Given the description of an element on the screen output the (x, y) to click on. 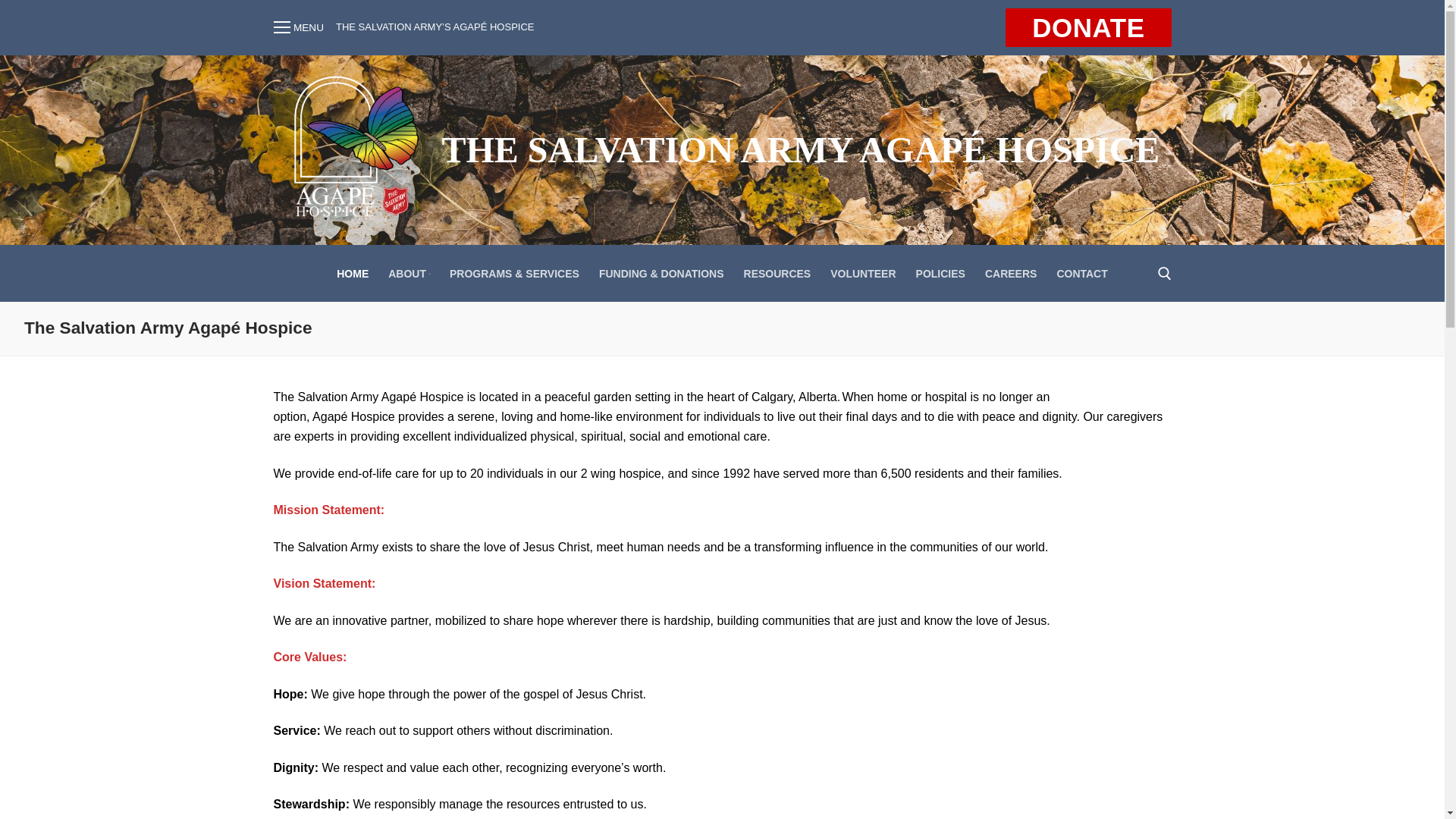
POLICIES Element type: text (940, 273)
DONATE Element type: text (1087, 27)
ABOUT
  Element type: text (408, 273)
PROGRAMS & SERVICES Element type: text (514, 273)
CONTACT Element type: text (1081, 273)
FUNDING & DONATIONS Element type: text (661, 273)
RESOURCES Element type: text (777, 273)
VOLUNTEER Element type: text (862, 273)
MENU Element type: text (298, 26)
CAREERS Element type: text (1010, 273)
HOME Element type: text (352, 273)
